Given the description of an element on the screen output the (x, y) to click on. 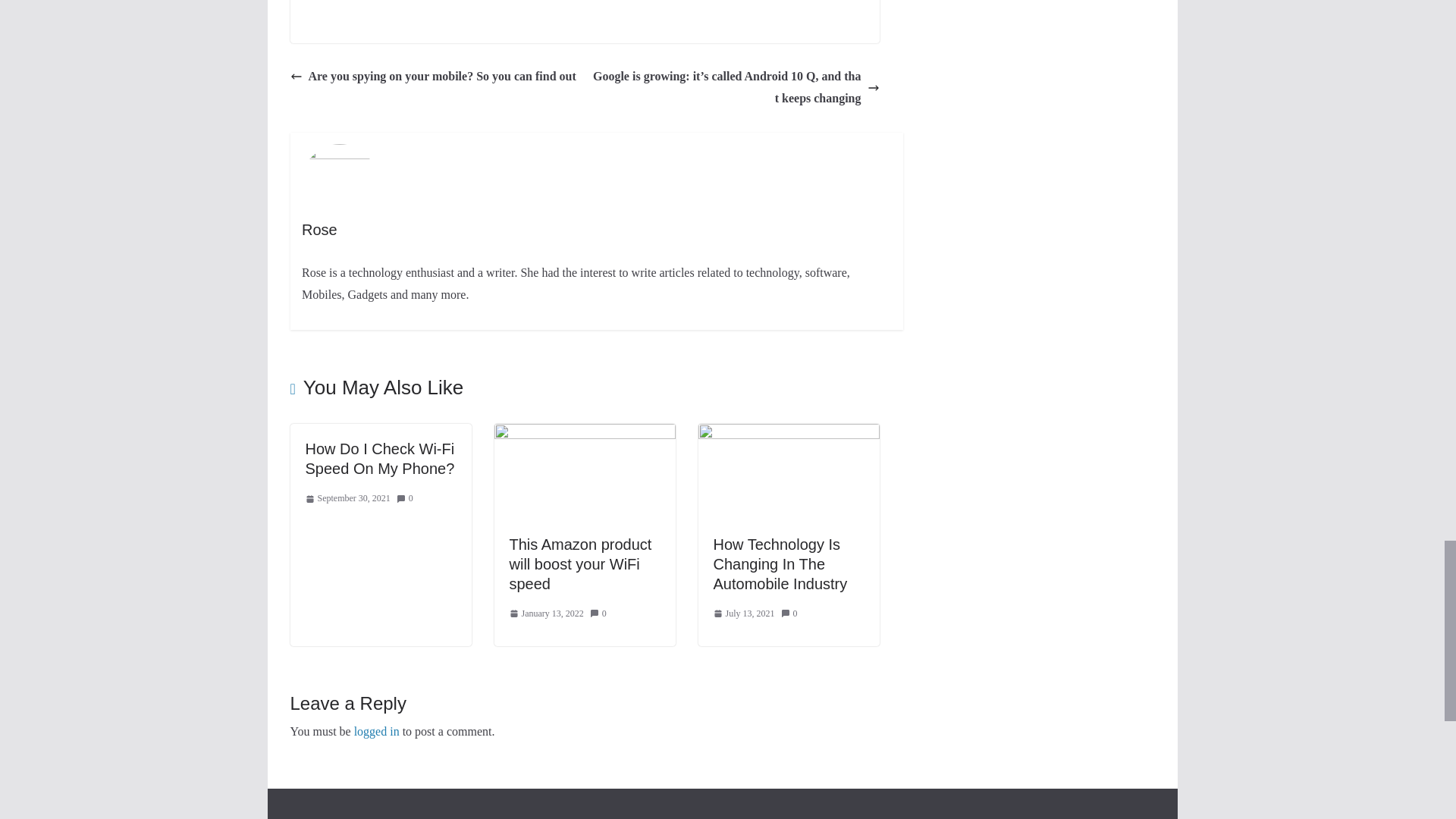
Are you spying on your mobile? So you can find out (432, 76)
This Amazon product will boost your WiFi speed (580, 564)
September 30, 2021 (347, 498)
This Amazon product will boost your WiFi speed (585, 433)
How Do I Check Wi-Fi Speed  On My Phone? (379, 458)
9:00 am (347, 498)
How Do I Check Wi-Fi Speed On My Phone? (379, 458)
